Given the description of an element on the screen output the (x, y) to click on. 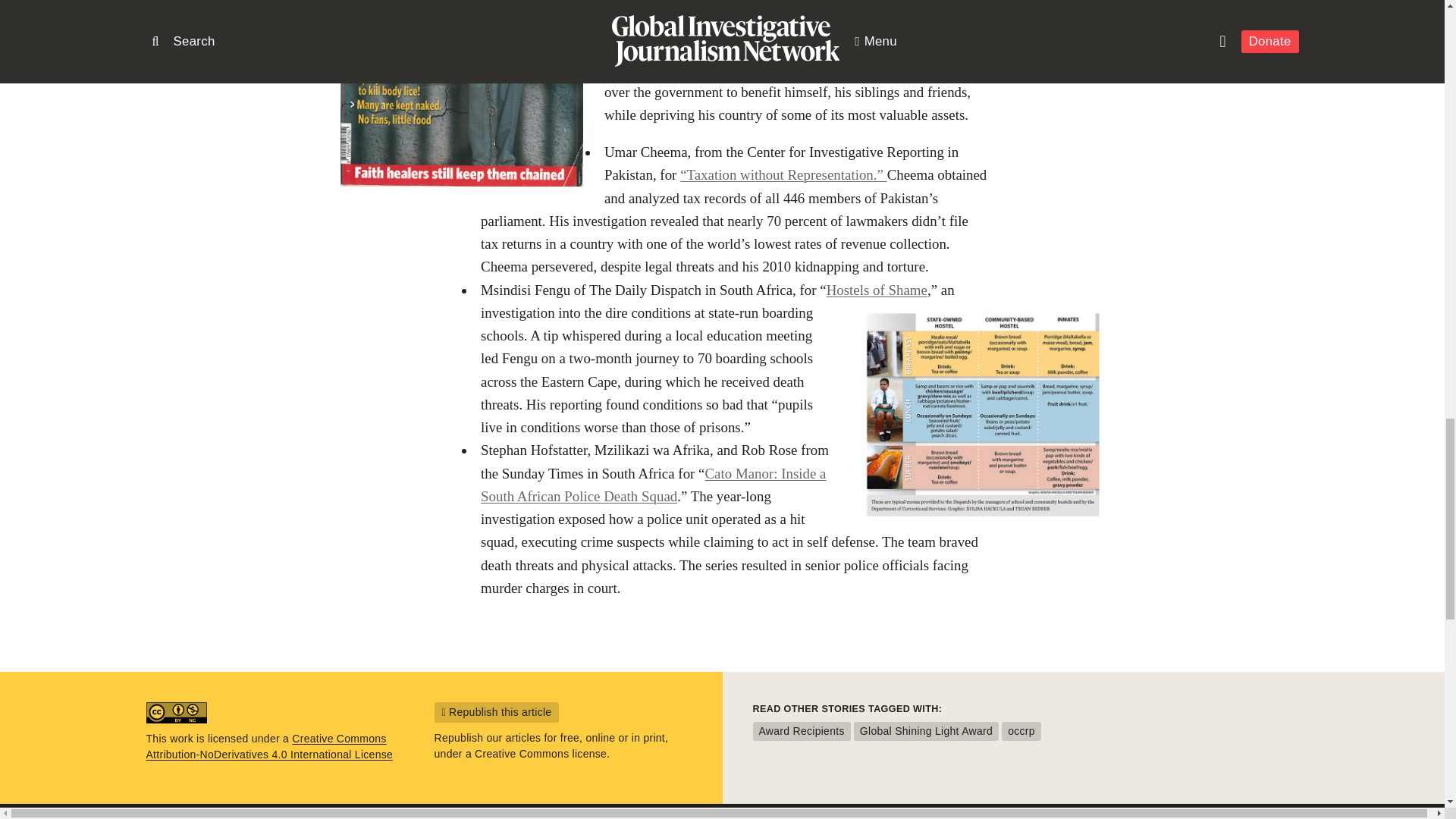
Read other stories tagged with Award Recipients (801, 731)
Read other stories tagged with occrp (1021, 731)
Read other stories tagged with Global Shining Light Award (925, 731)
